Given the description of an element on the screen output the (x, y) to click on. 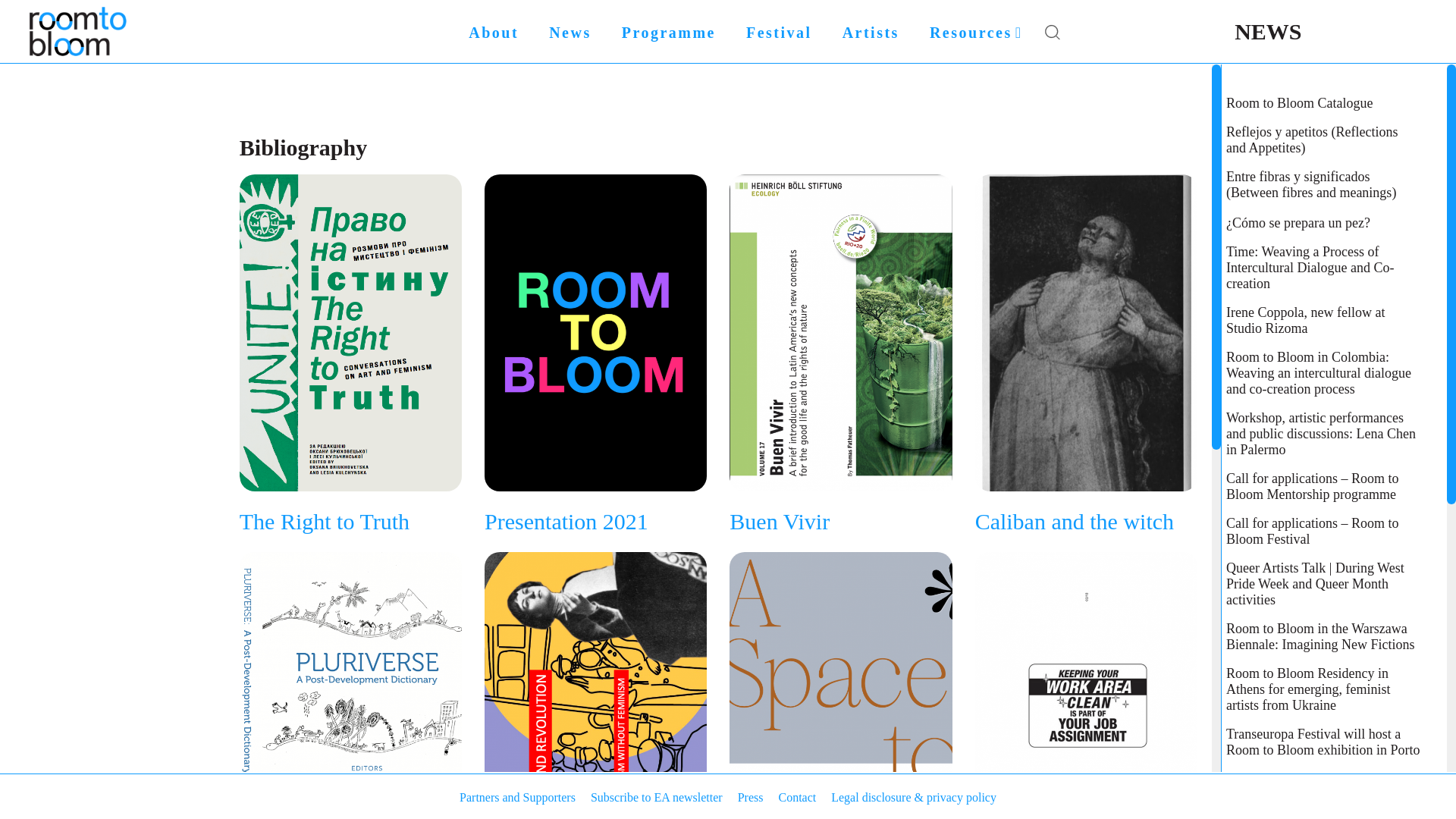
News (570, 31)
U (1081, 426)
Programme (668, 31)
Festival (778, 31)
Artists (870, 31)
About (493, 31)
Resources (976, 31)
